Given the description of an element on the screen output the (x, y) to click on. 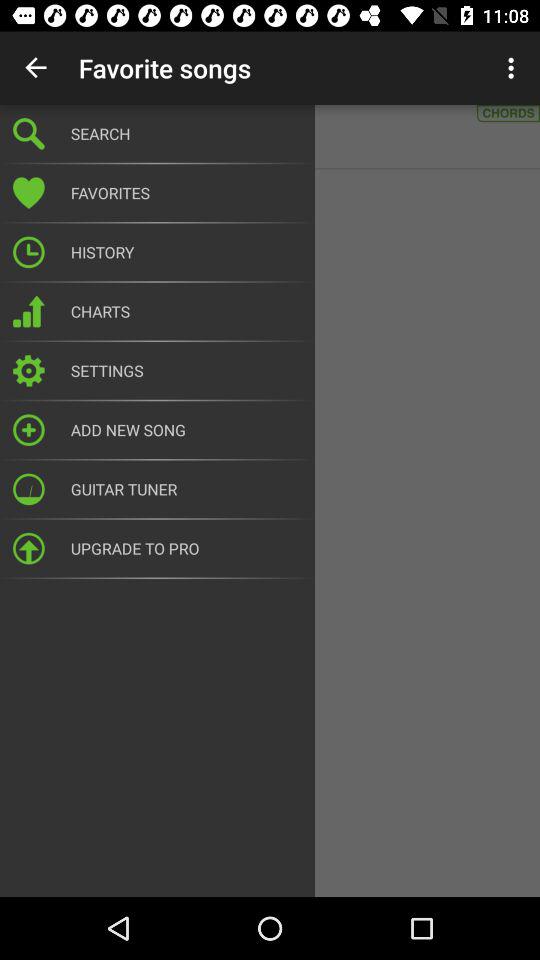
flip until settings icon (185, 370)
